Given the description of an element on the screen output the (x, y) to click on. 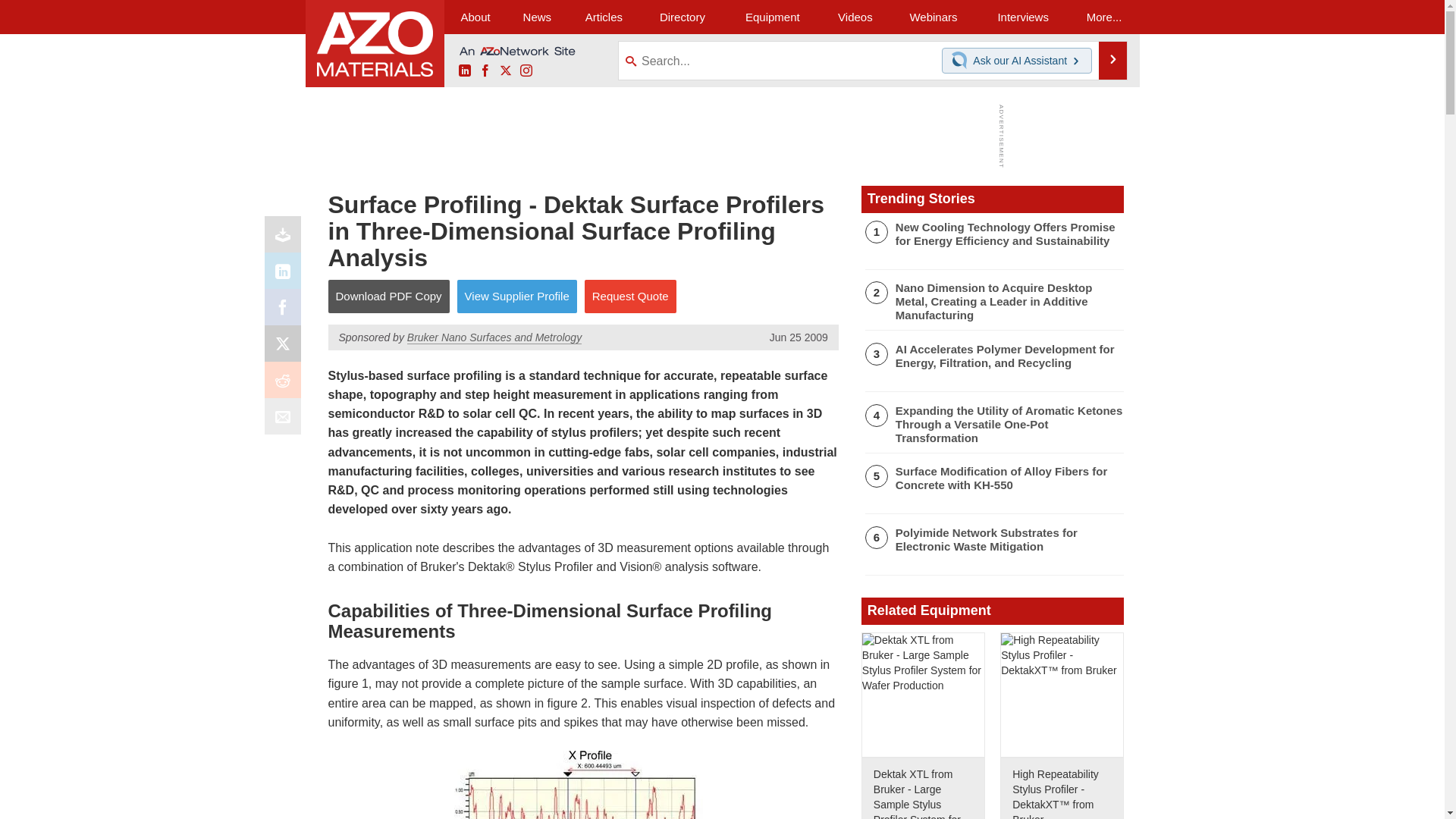
X (285, 348)
Reddit (285, 384)
Chat with our AI Assistant (962, 60)
Facebook (485, 71)
Interviews (1022, 17)
News (536, 17)
More... (1104, 17)
LinkedIn (285, 275)
Email (285, 420)
